Given the description of an element on the screen output the (x, y) to click on. 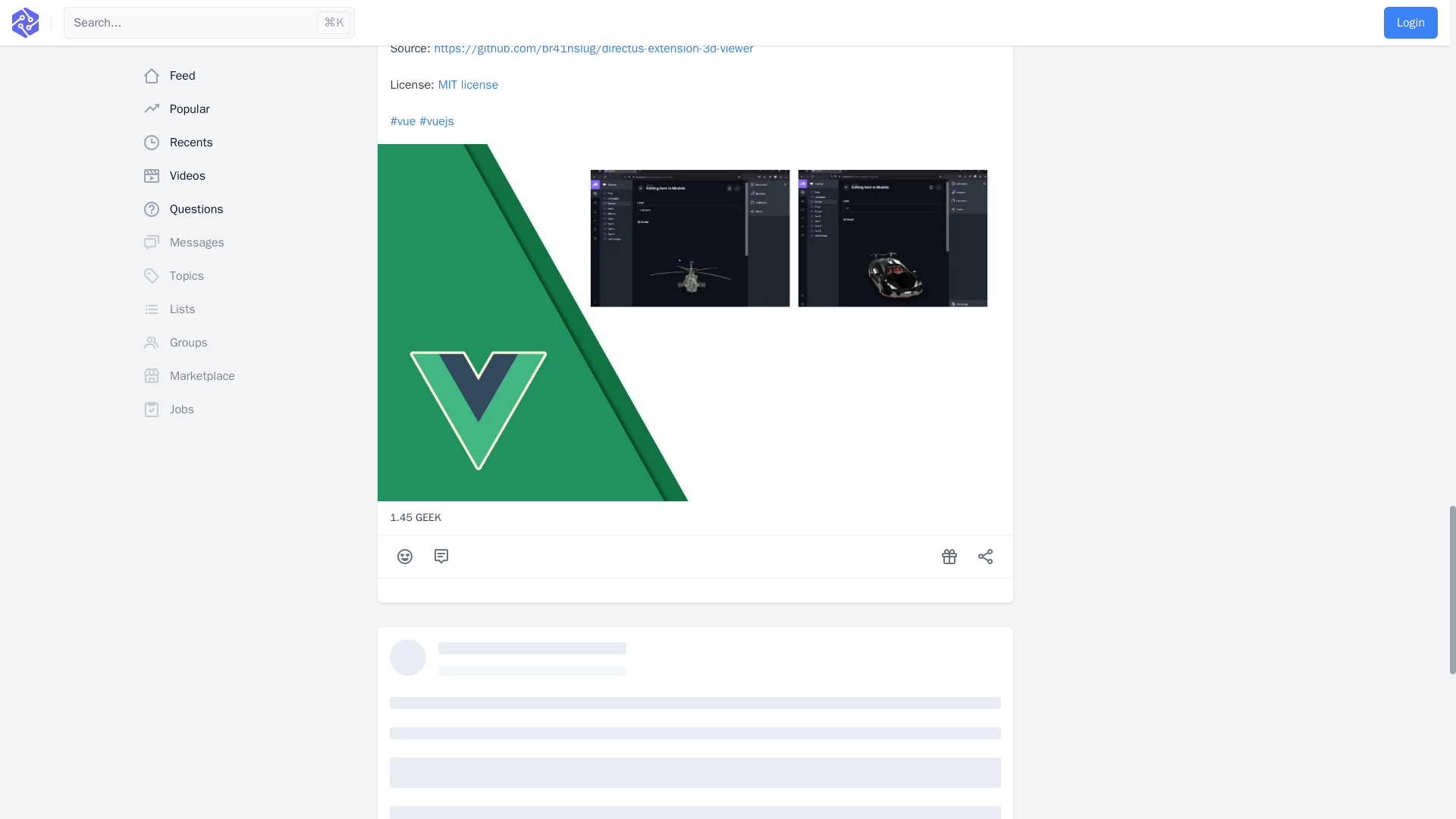
Like (405, 556)
Share (986, 556)
Send me a coffee (948, 556)
MIT license (468, 84)
Write a comment (441, 556)
